Given the description of an element on the screen output the (x, y) to click on. 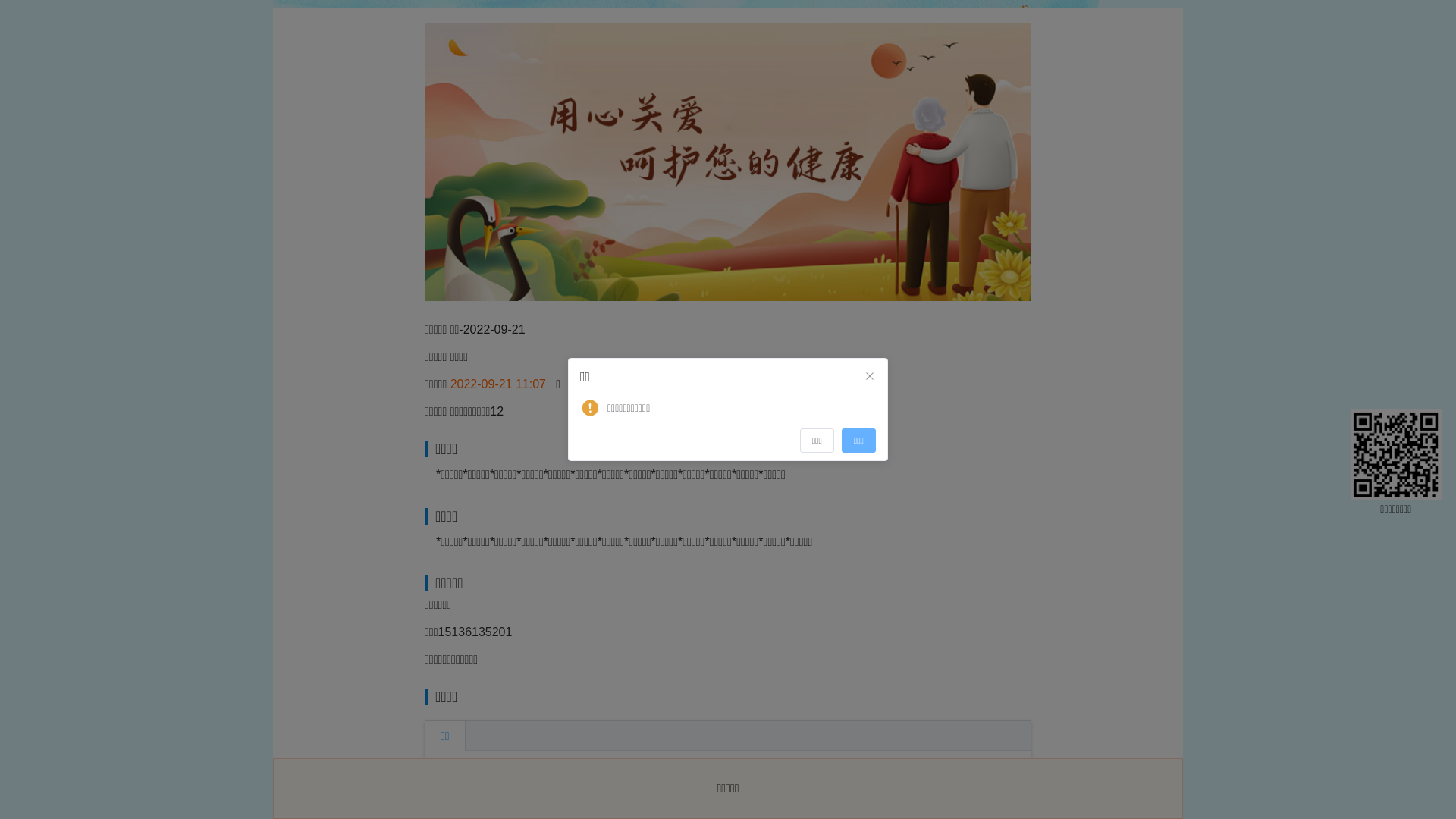
15136135201 Element type: text (475, 631)
